Given the description of an element on the screen output the (x, y) to click on. 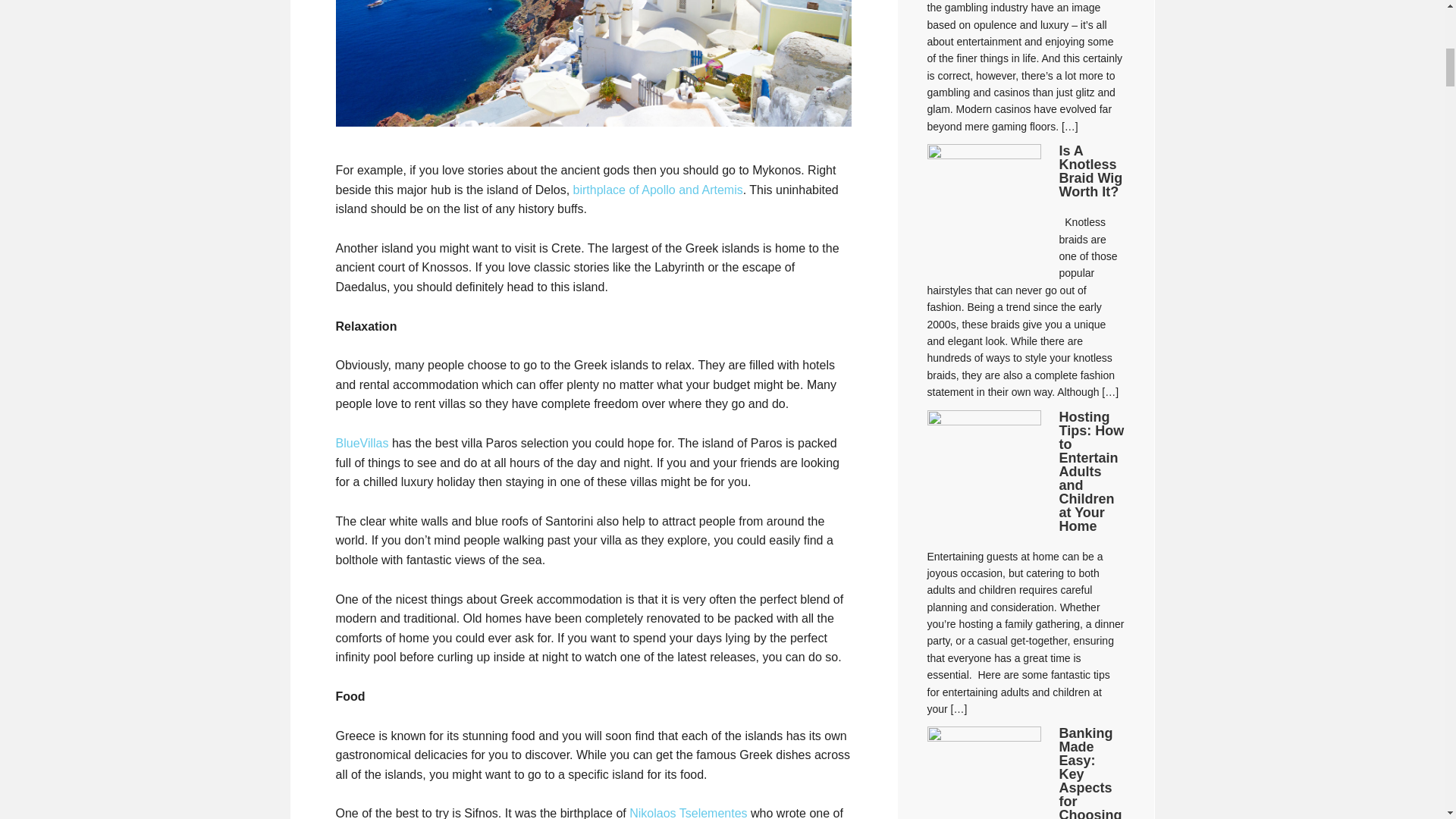
Nikolaos Tselementes (687, 812)
birthplace of Apollo and Artemis (657, 189)
BlueVillas (361, 442)
